Given the description of an element on the screen output the (x, y) to click on. 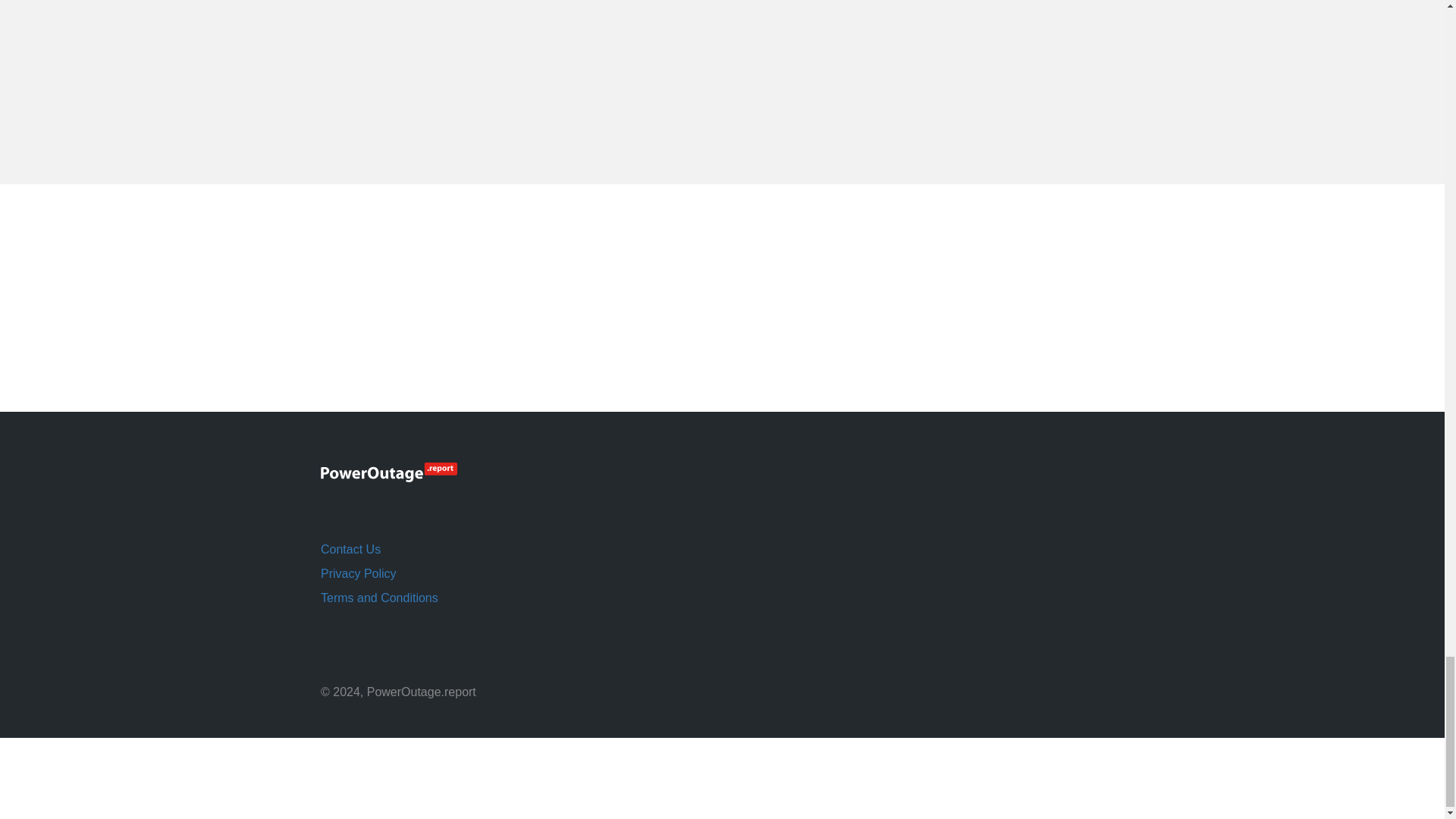
Privacy Policy (358, 573)
Contact Us (350, 549)
Terms and Conditions (379, 597)
